Given the description of an element on the screen output the (x, y) to click on. 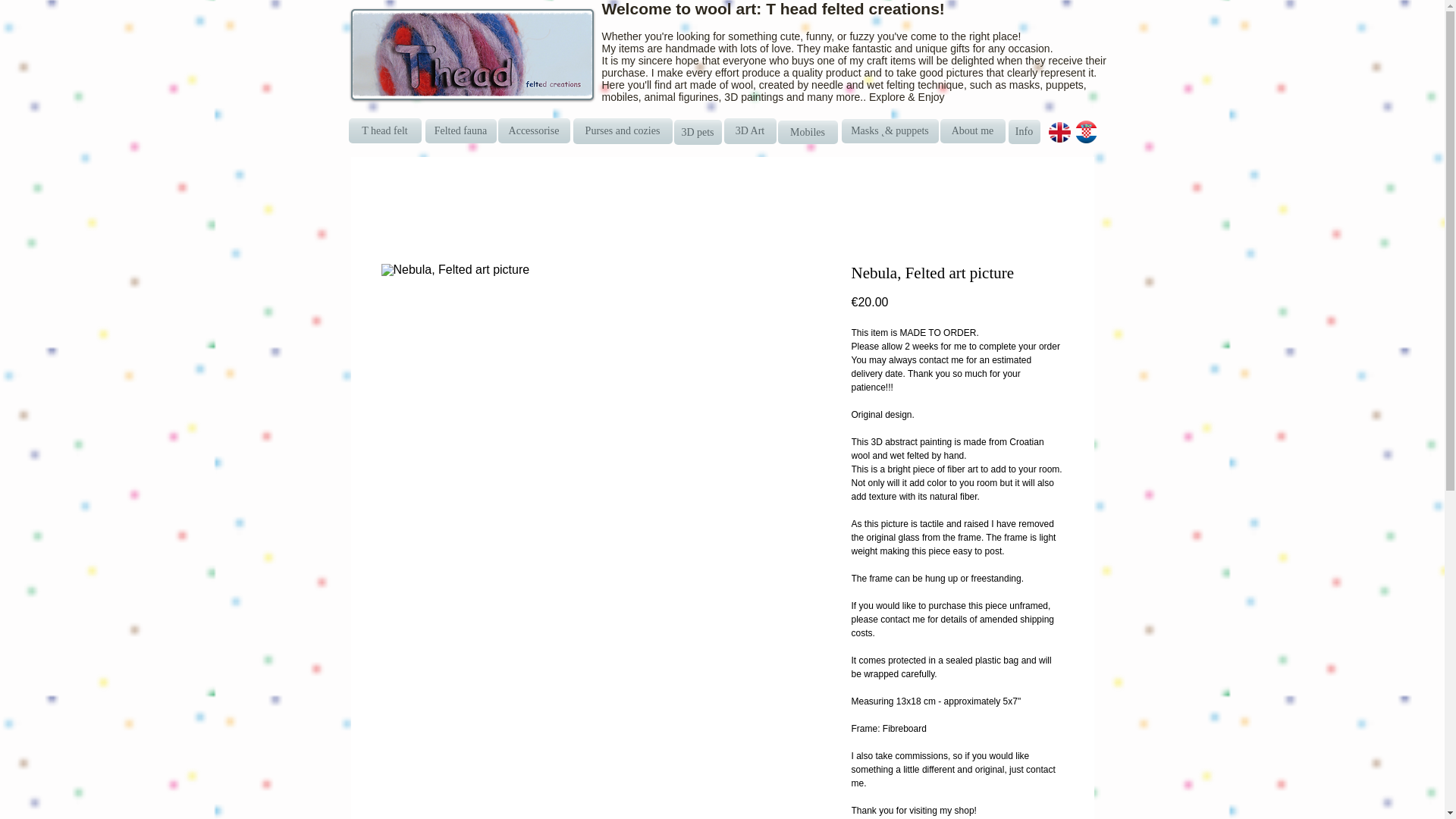
Mobiles (807, 132)
T head felt (385, 130)
3D Art (749, 130)
About me (973, 130)
Info (1025, 131)
Felted fauna (460, 130)
Purses and cozies (622, 130)
3D pets (696, 131)
Accessorise (533, 130)
